Given the description of an element on the screen output the (x, y) to click on. 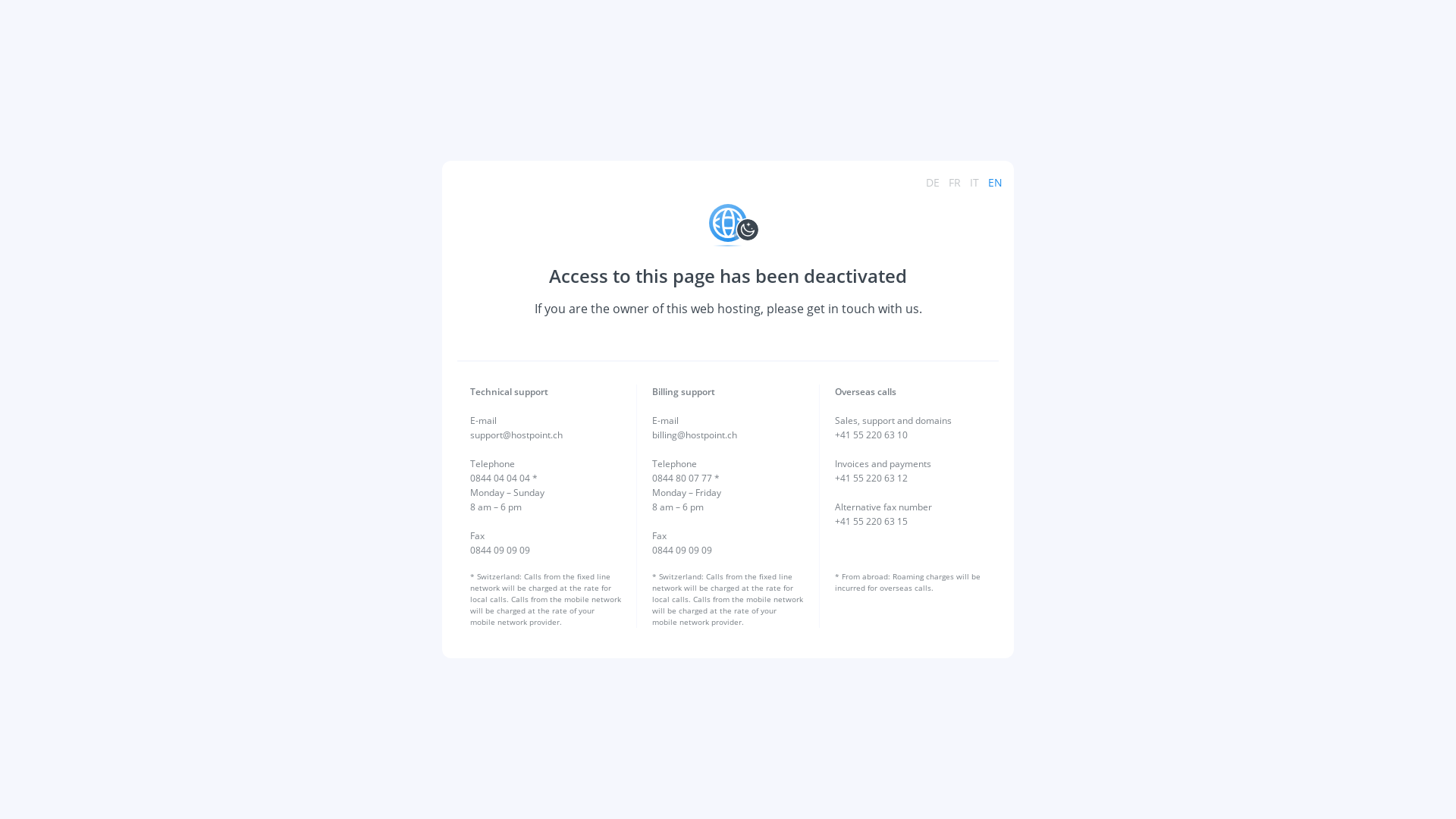
support@hostpoint.ch Element type: text (516, 434)
billing@hostpoint.ch Element type: text (694, 434)
